Given the description of an element on the screen output the (x, y) to click on. 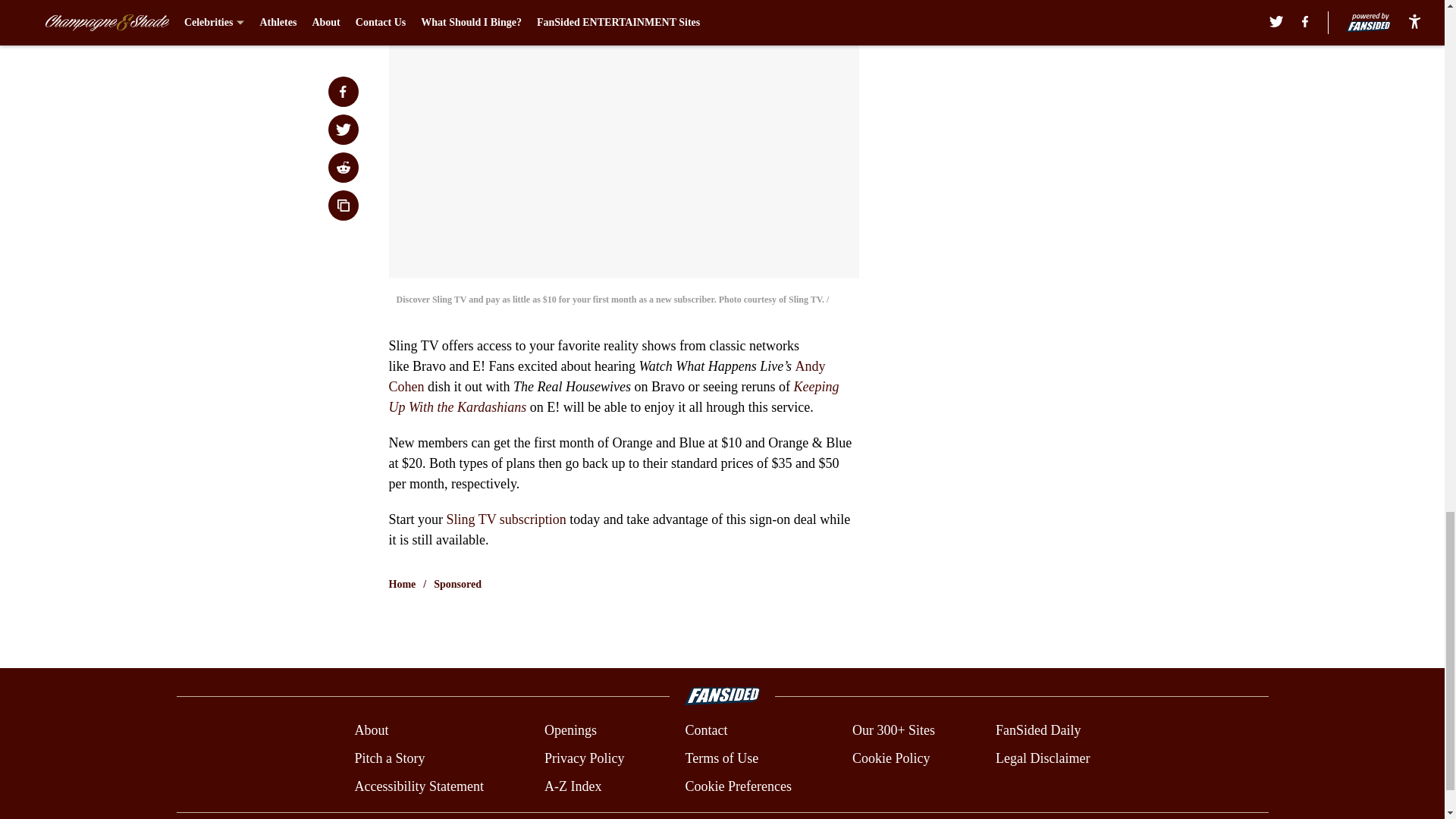
Sponsored (457, 584)
Keeping Up With the Kardashians (613, 396)
Cookie Policy (890, 758)
Terms of Use (721, 758)
Home (401, 584)
About (370, 730)
Privacy Policy (584, 758)
FanSided Daily (1038, 730)
Contact (705, 730)
Sling TV subscription (505, 519)
